Given the description of an element on the screen output the (x, y) to click on. 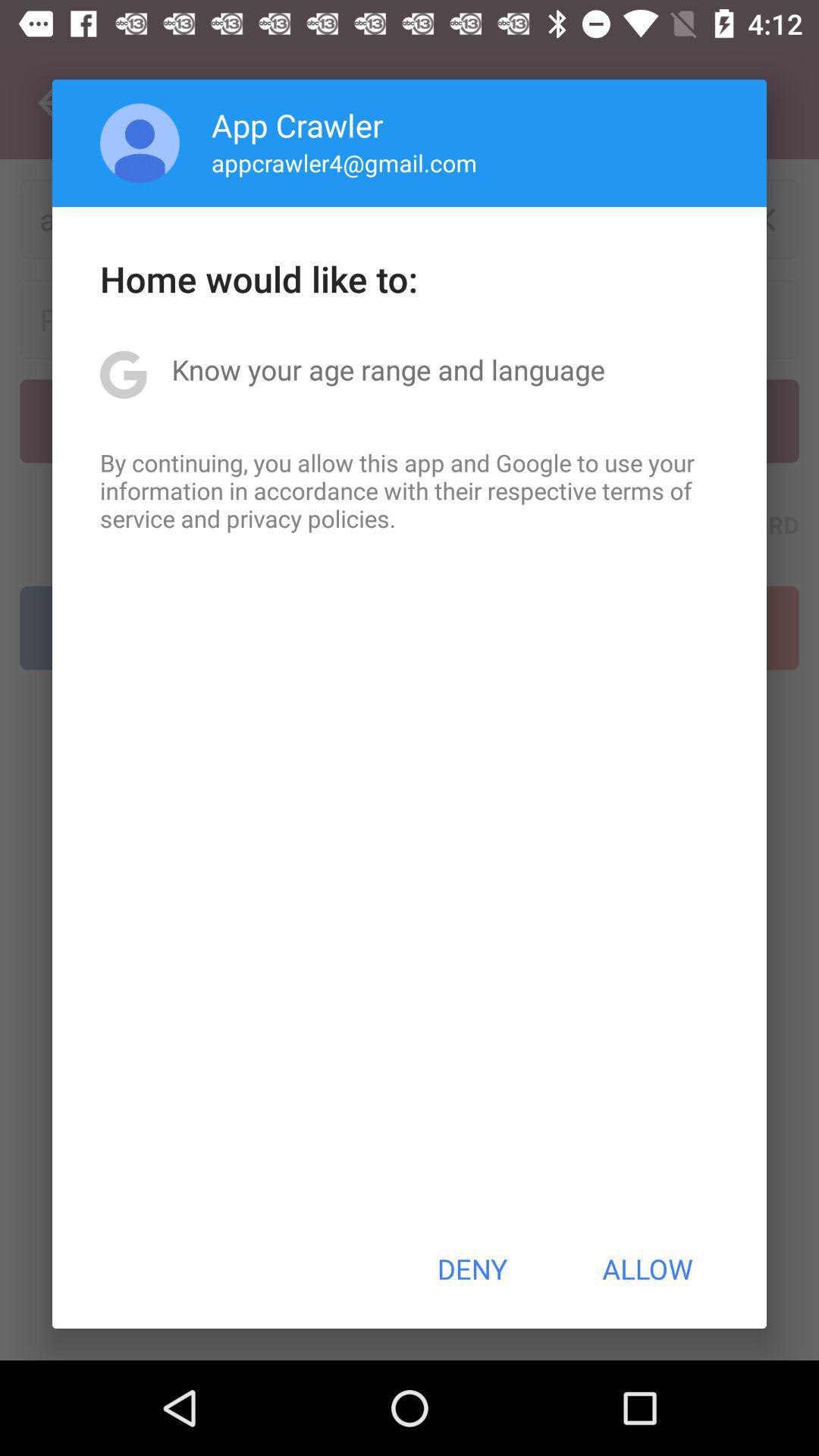
click appcrawler4@gmail.com item (344, 162)
